Given the description of an element on the screen output the (x, y) to click on. 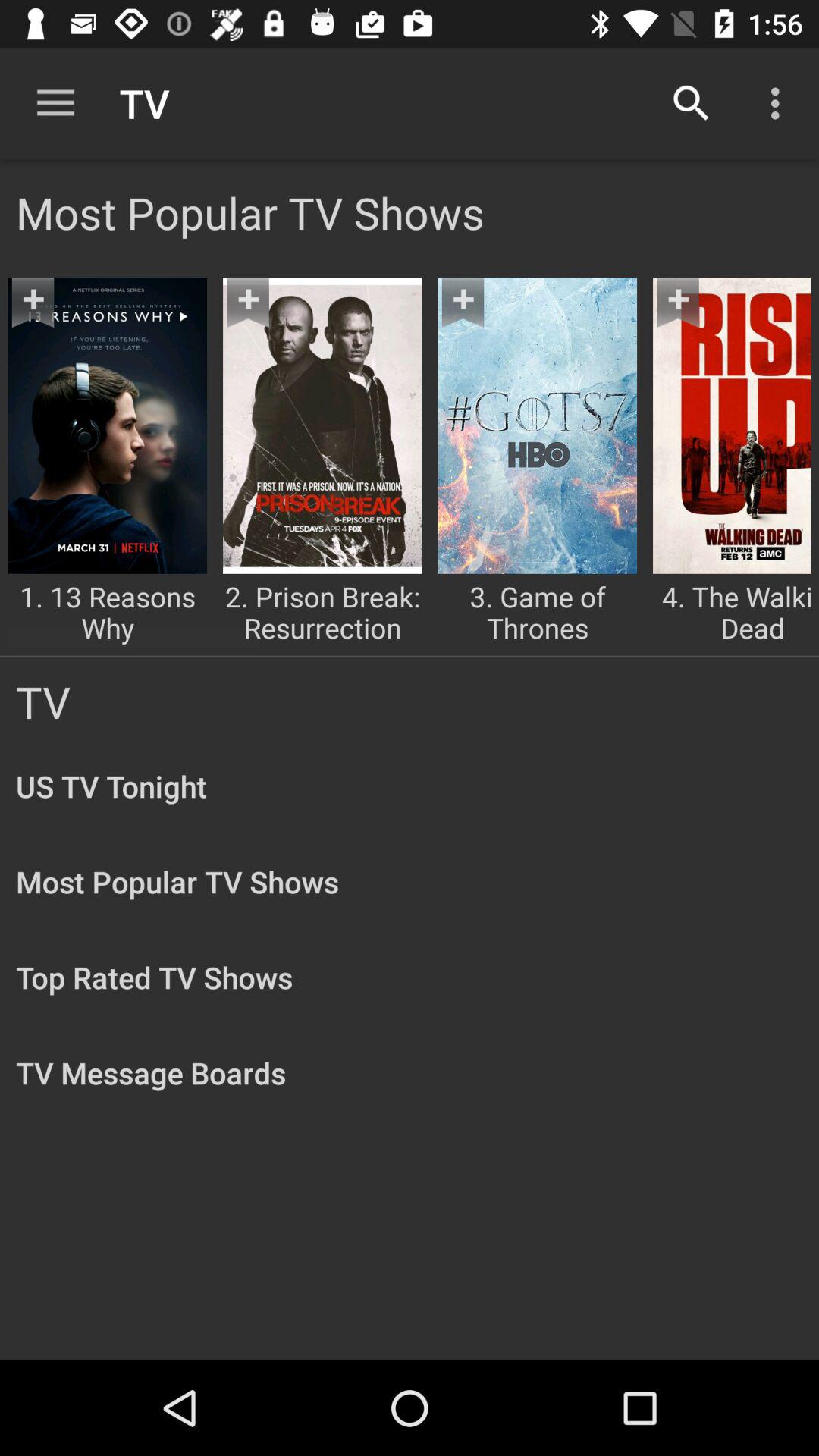
turn off item next to tv item (691, 103)
